Given the description of an element on the screen output the (x, y) to click on. 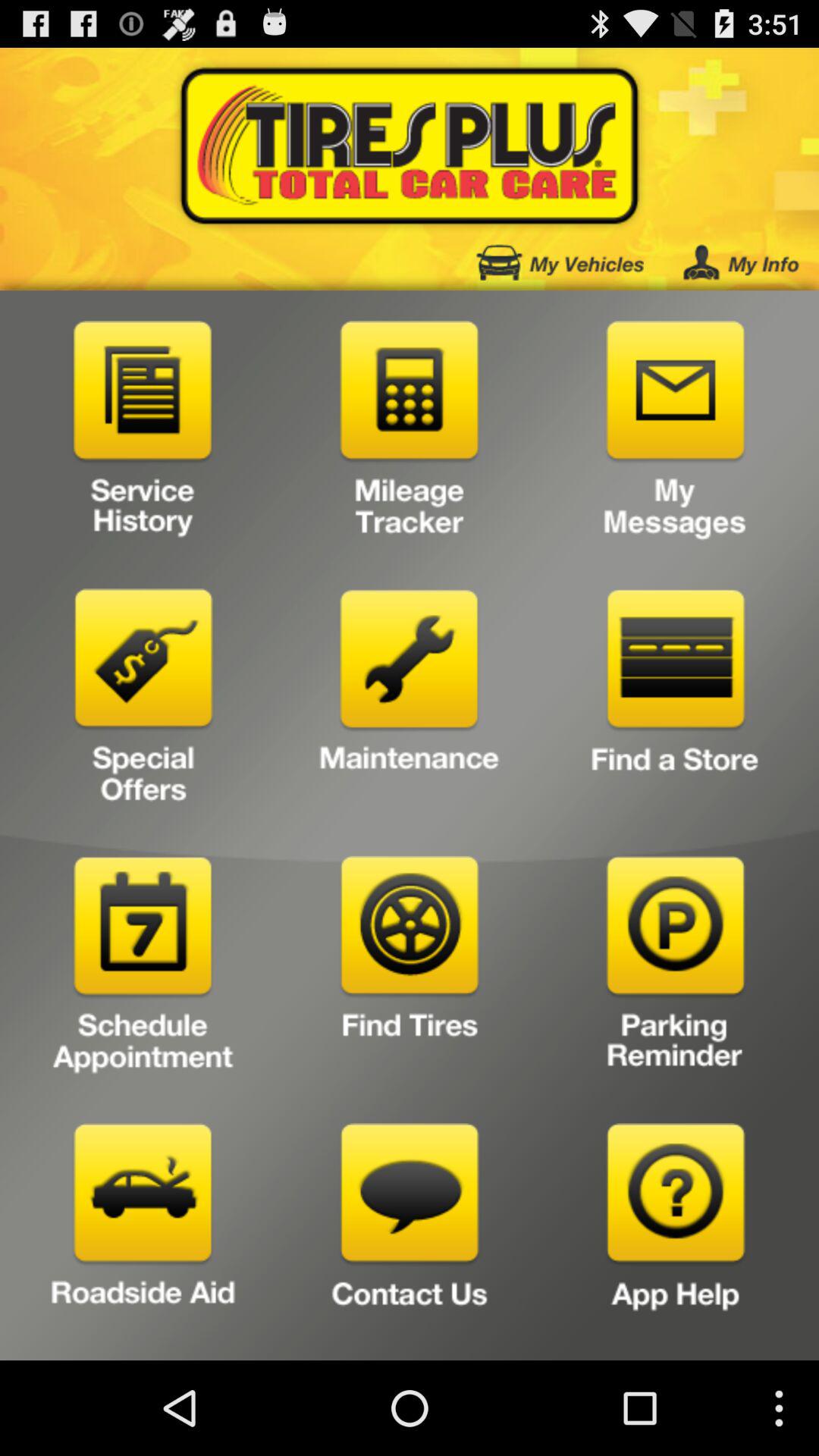
open service history (142, 434)
